Given the description of an element on the screen output the (x, y) to click on. 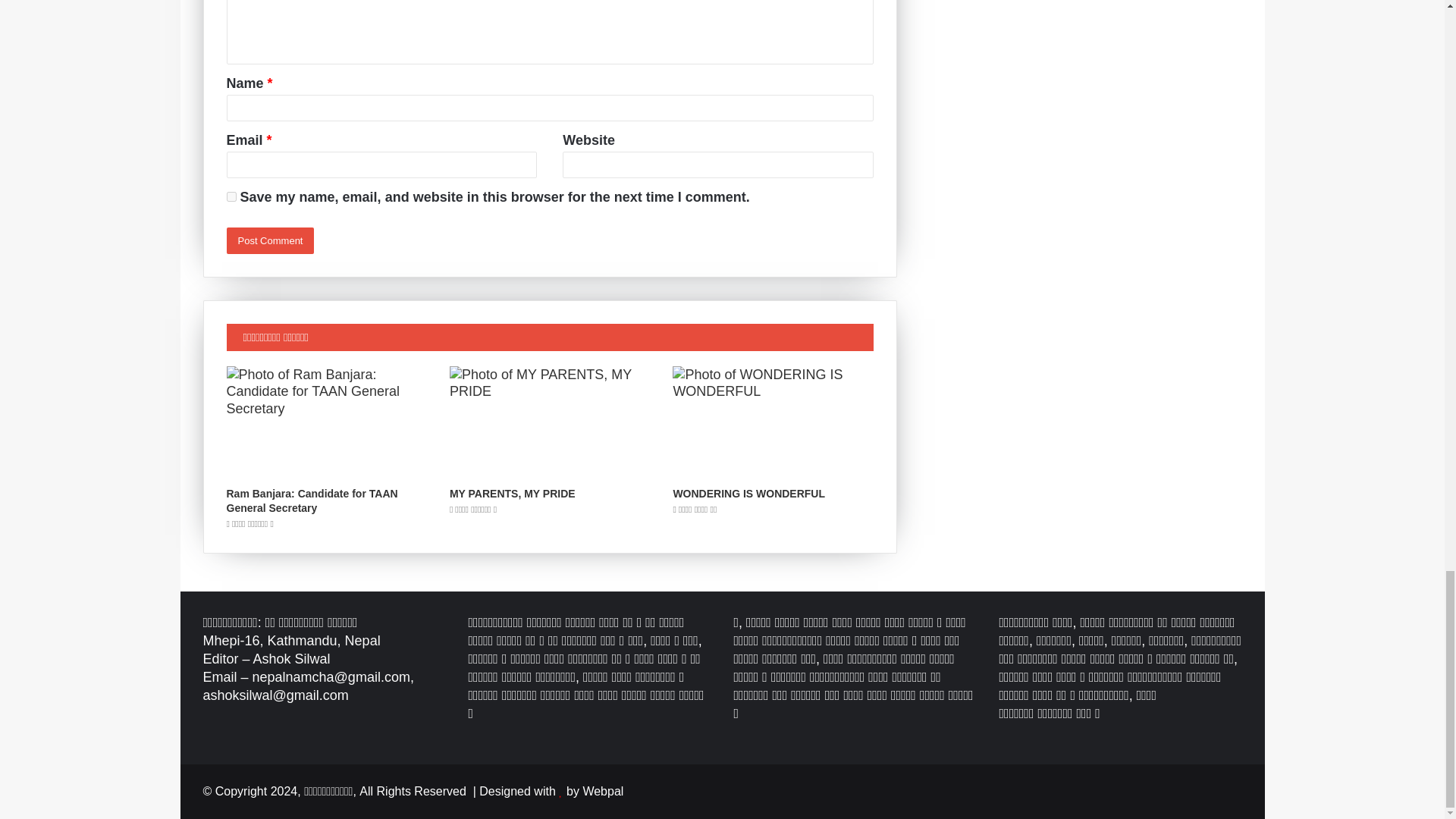
Post Comment (269, 240)
yes (230, 196)
